Given the description of an element on the screen output the (x, y) to click on. 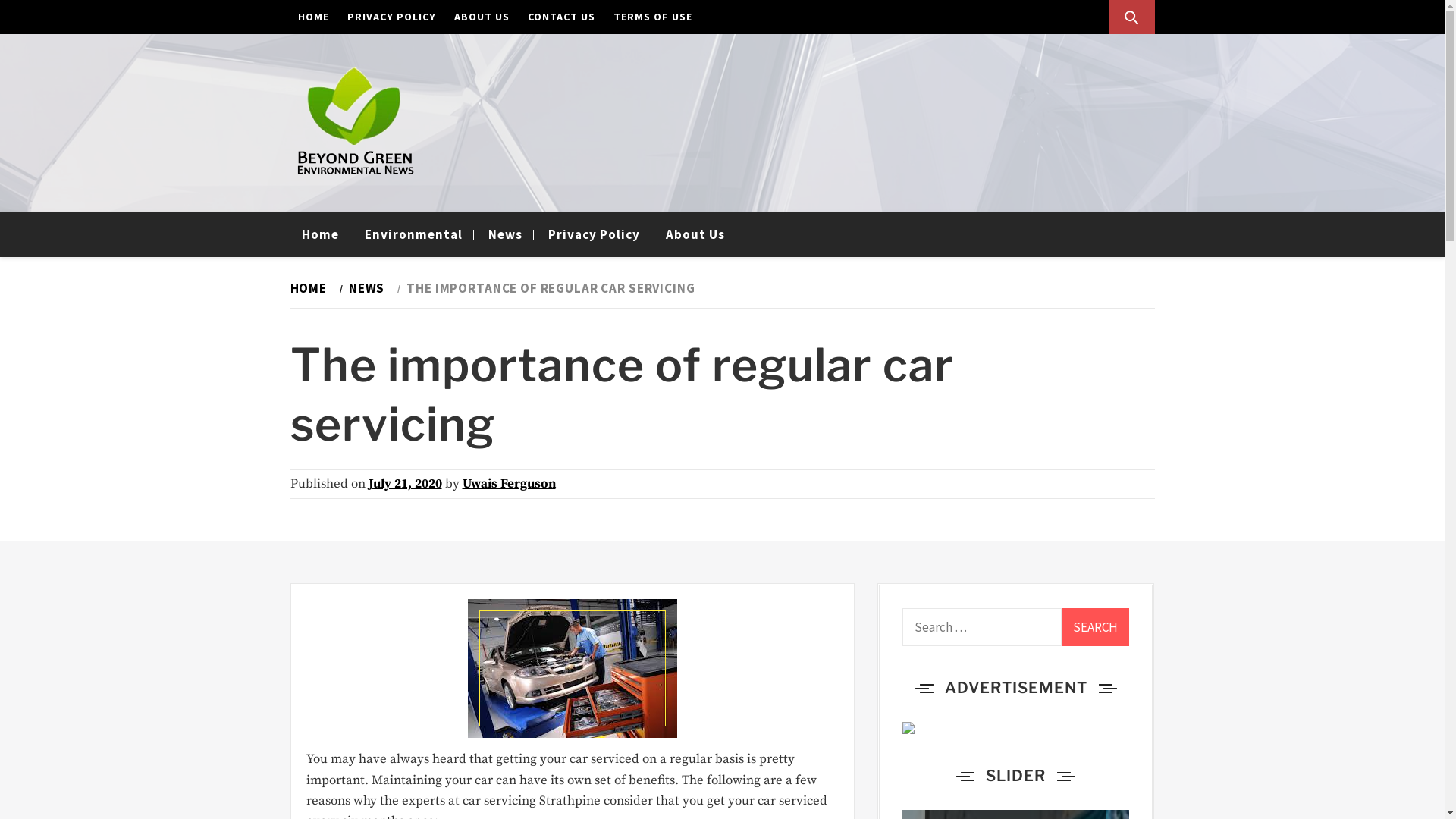
Environmental Element type: text (413, 234)
TERMS OF USE Element type: text (652, 16)
Beyond Green Element type: text (379, 203)
Home Element type: text (319, 234)
Privacy Policy Element type: text (593, 234)
News Element type: text (504, 234)
HOME Element type: text (312, 16)
July 21, 2020 Element type: text (405, 483)
ABOUT US Element type: text (480, 16)
HOME Element type: text (310, 287)
CONTACT US Element type: text (561, 16)
About Us Element type: text (694, 234)
Search Element type: text (1095, 627)
NEWS Element type: text (364, 287)
Uwais Ferguson Element type: text (508, 483)
PRIVACY POLICY Element type: text (391, 16)
